Given the description of an element on the screen output the (x, y) to click on. 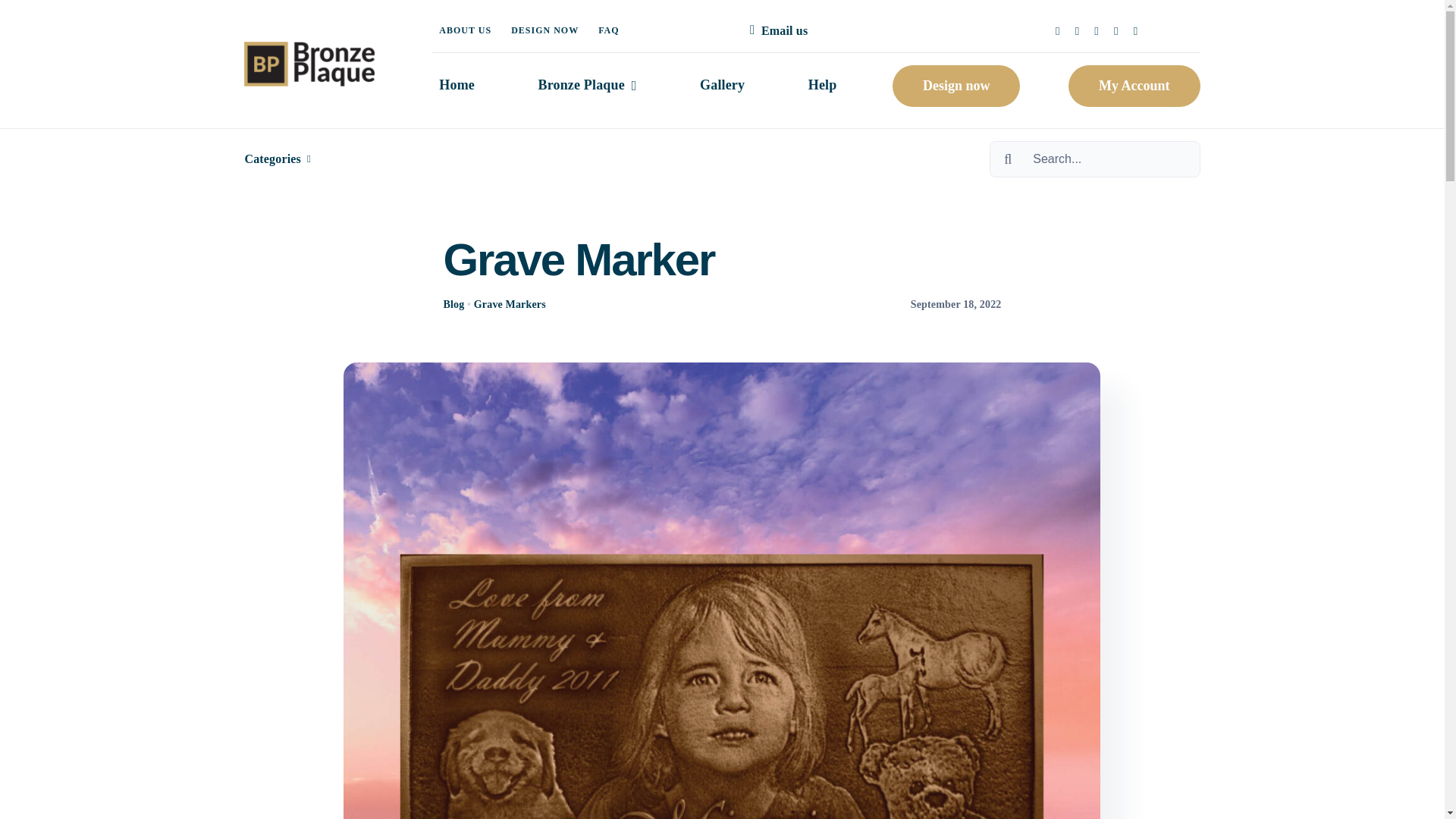
Design now (956, 86)
My Account (1133, 86)
Gallery (722, 86)
Home (455, 86)
Email us (775, 30)
My Account (1133, 86)
Blog (454, 304)
DESIGN NOW (544, 30)
ABOUT US (464, 30)
Design now (956, 86)
Grave Markers (510, 304)
Bronze Plaque (588, 86)
Help (822, 86)
FAQ (608, 30)
